Given the description of an element on the screen output the (x, y) to click on. 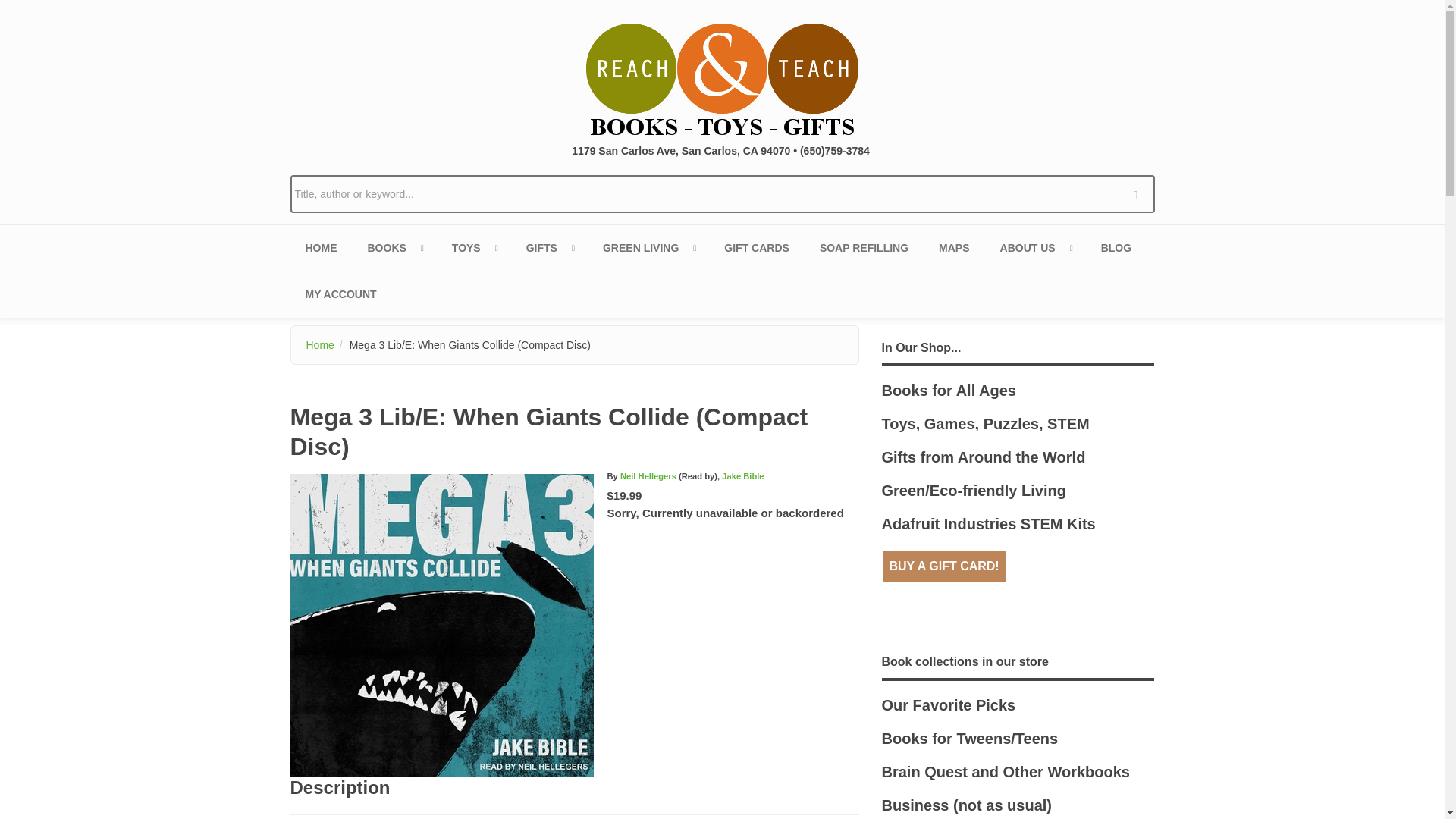
Home (722, 78)
Maps (953, 248)
GIFTS (549, 248)
TOYS (473, 248)
HOME (320, 248)
BOOKS (393, 248)
Green Lifestyle Products (648, 248)
Title, author or keyword... (721, 193)
GREEN LIVING (648, 248)
